Given the description of an element on the screen output the (x, y) to click on. 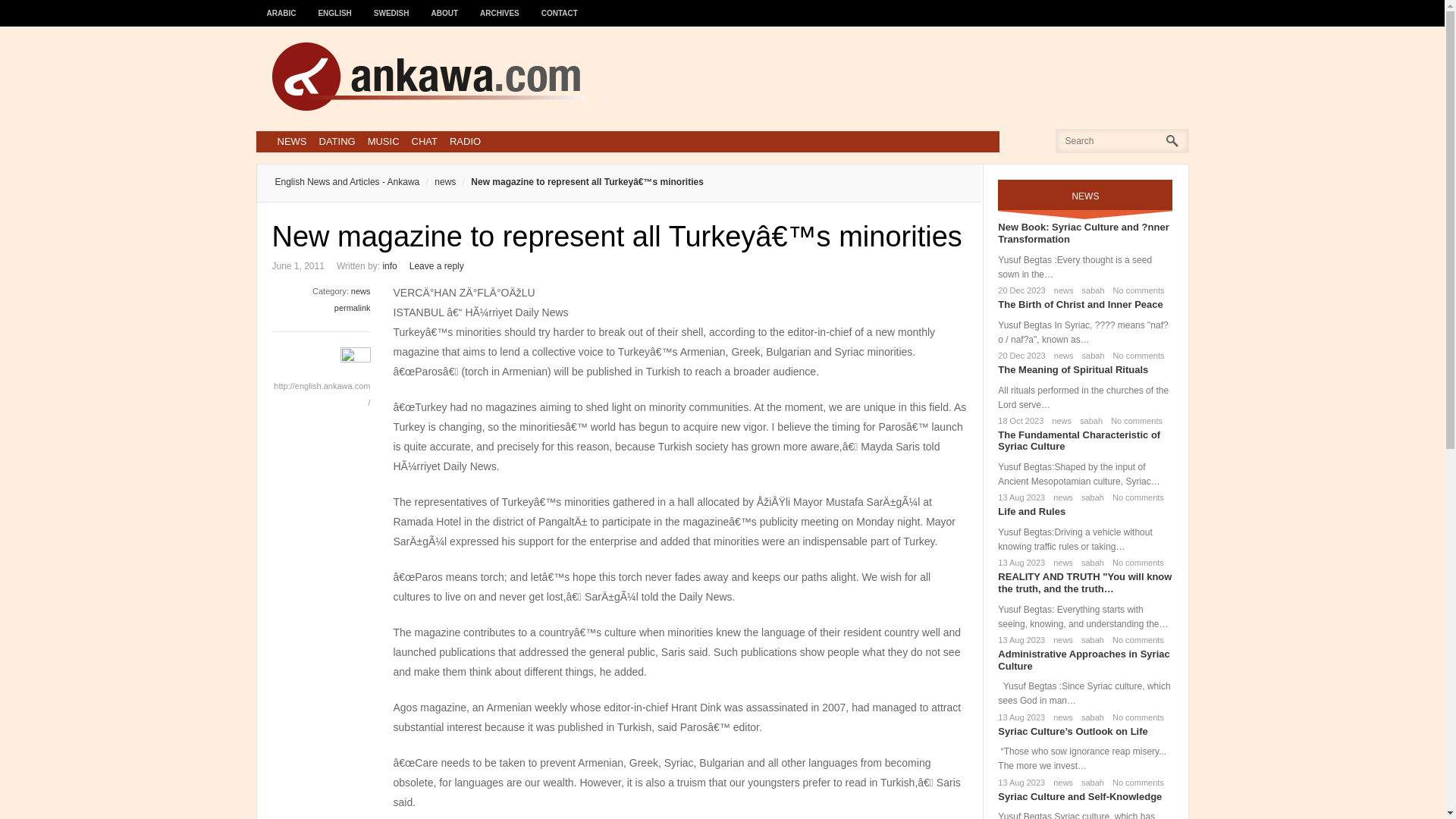
NEWS (291, 141)
sabah (1090, 355)
No comments (1135, 289)
news (1061, 355)
ENGLISH (334, 5)
ABOUT (445, 5)
info (388, 266)
No comments (1134, 497)
Administrative Approaches in Syriac Culture (1083, 659)
DATING (337, 141)
Advertisement (891, 76)
The Meaning of Spiritual Rituals (1072, 369)
The Birth of Christ and Inner Peace (1079, 304)
The Fundamental Characteristic of Syriac Culture (1078, 440)
ARCHIVES (499, 5)
